Given the description of an element on the screen output the (x, y) to click on. 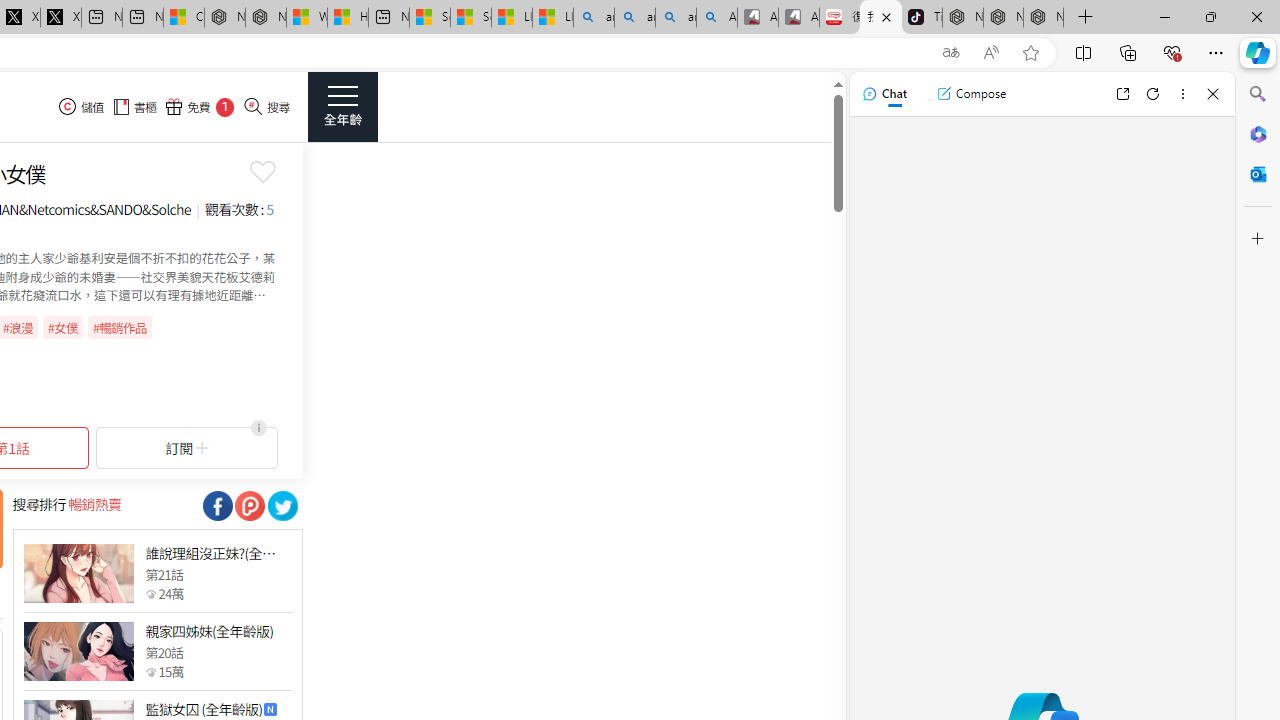
Nordace - Siena Pro 15 Essential Set (1043, 17)
TikTok (922, 17)
Outlook (1258, 174)
Nordace - Best Sellers (963, 17)
